Given the description of an element on the screen output the (x, y) to click on. 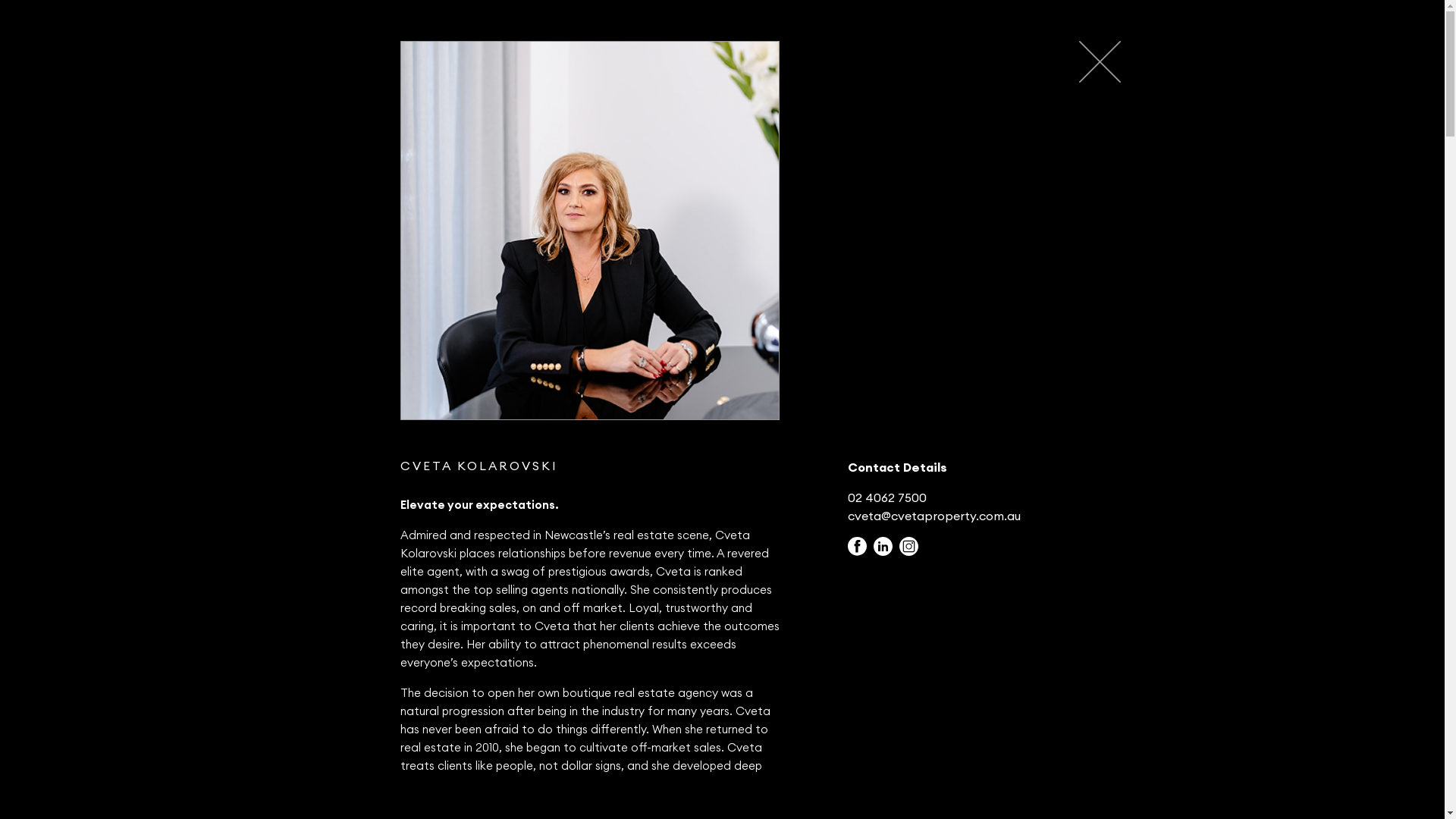
02 4062 7500 Element type: text (886, 497)
cveta@cvetaproperty.com.au Element type: text (933, 515)
